Given the description of an element on the screen output the (x, y) to click on. 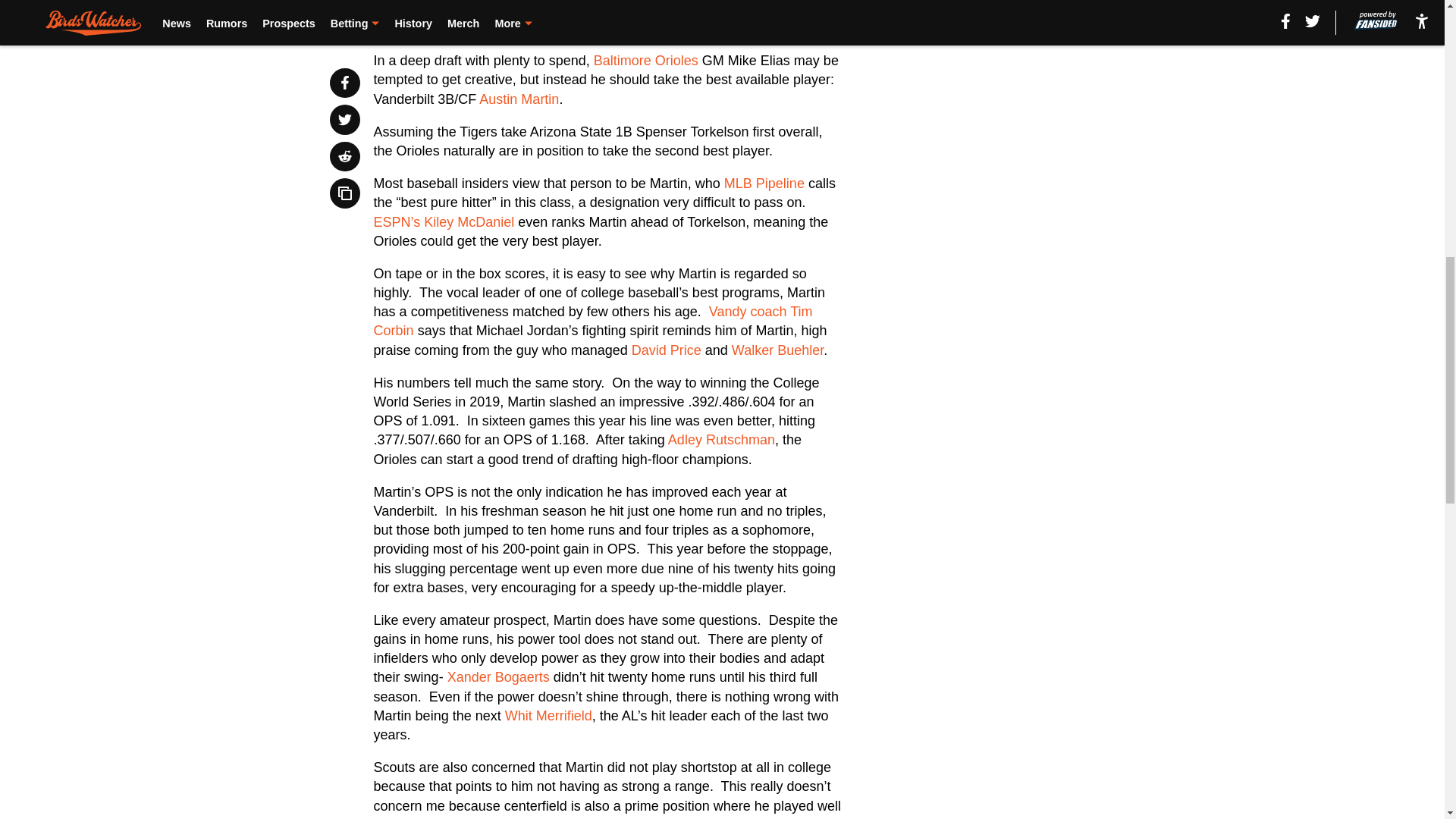
Austin Martin (519, 99)
Vandy coach Tim Corbin (593, 320)
Xander Bogaerts (498, 676)
Baltimore Orioles (646, 60)
Adley Rutschman (721, 439)
MLB Pipeline (764, 183)
Walker Buehler (778, 350)
David Price (666, 350)
